Given the description of an element on the screen output the (x, y) to click on. 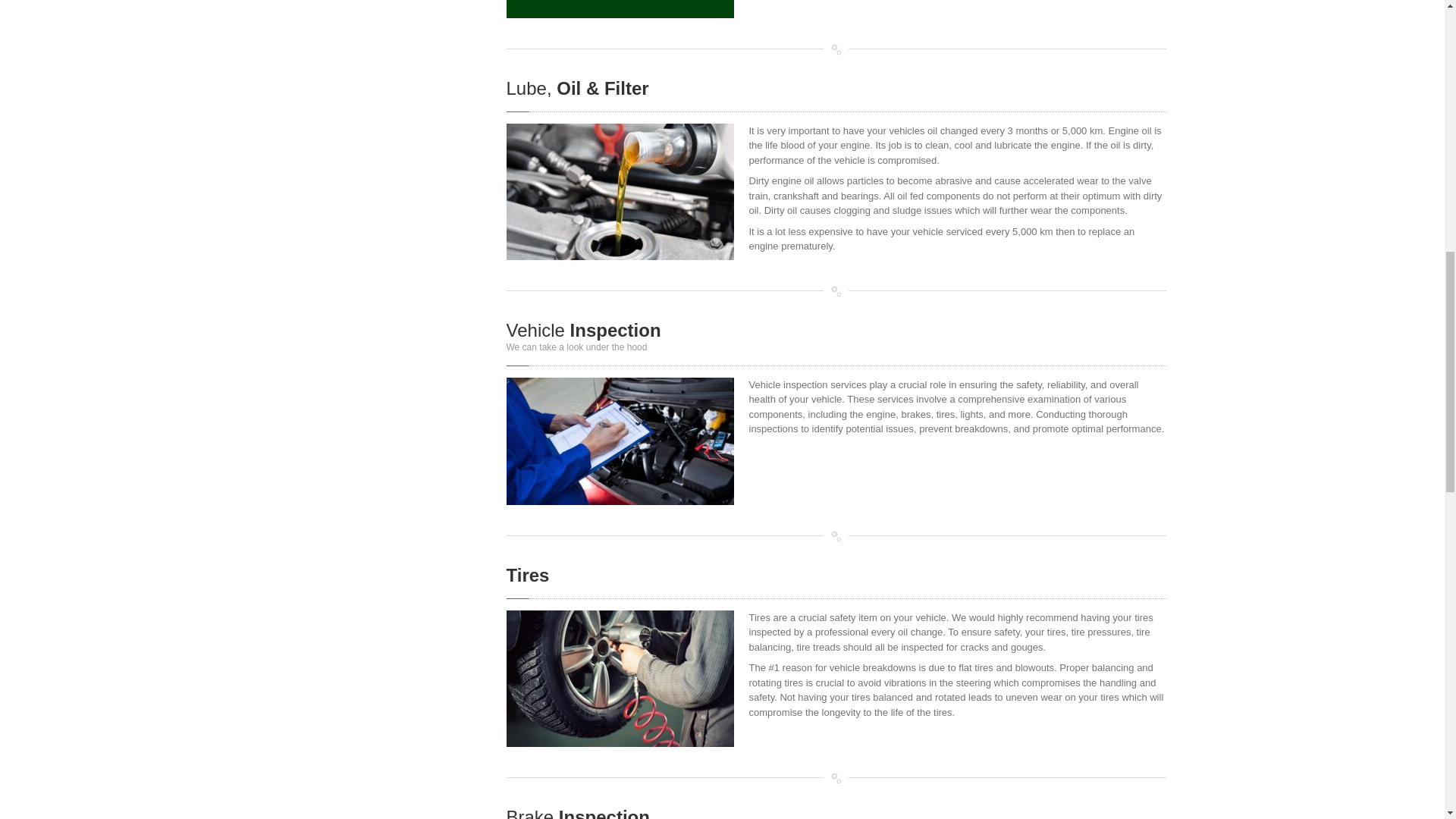
Brake Inspection (577, 812)
Tires (528, 575)
Vehicle Inspection (583, 330)
